Given the description of an element on the screen output the (x, y) to click on. 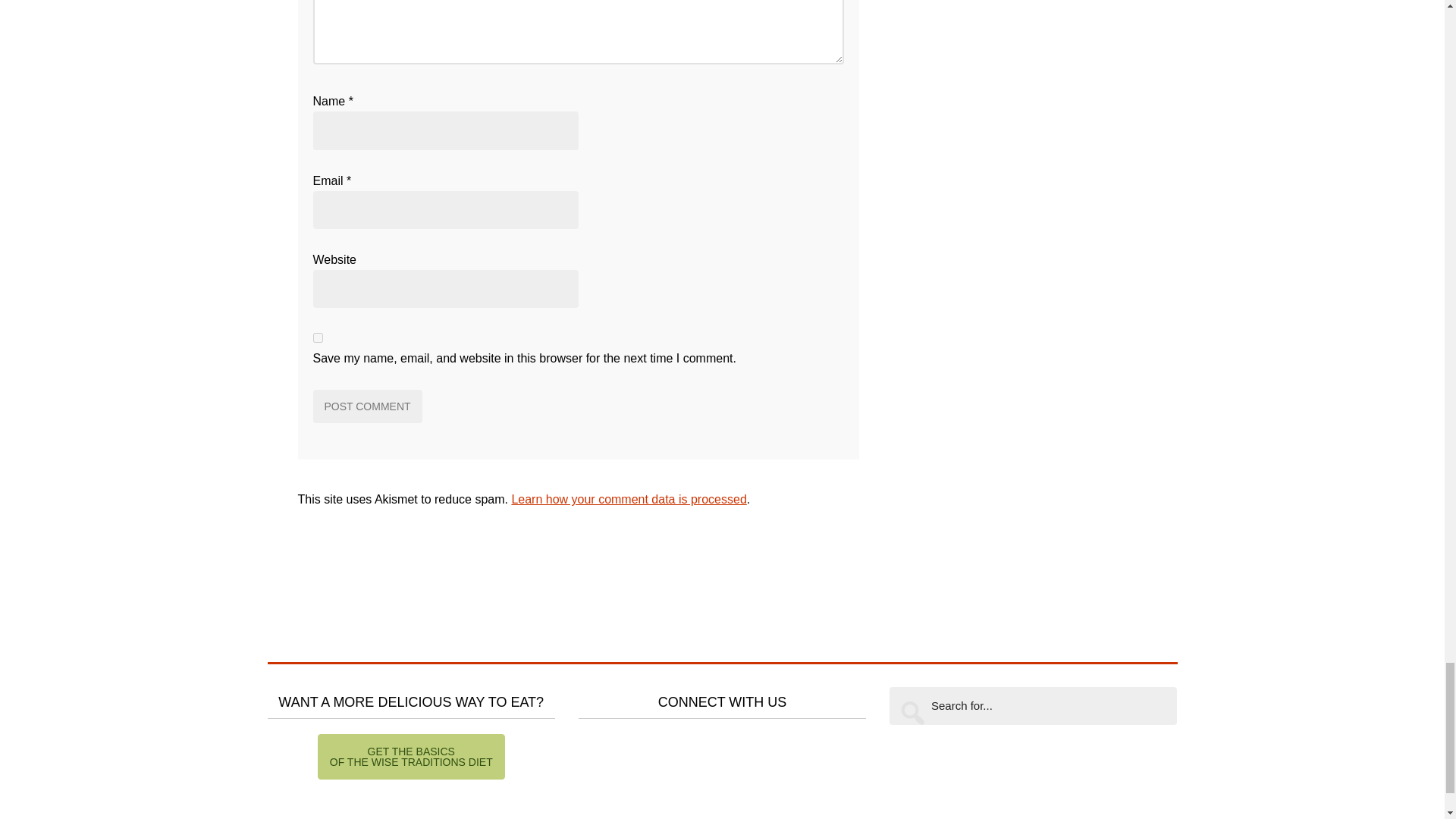
yes (317, 337)
Post Comment (367, 406)
